Given the description of an element on the screen output the (x, y) to click on. 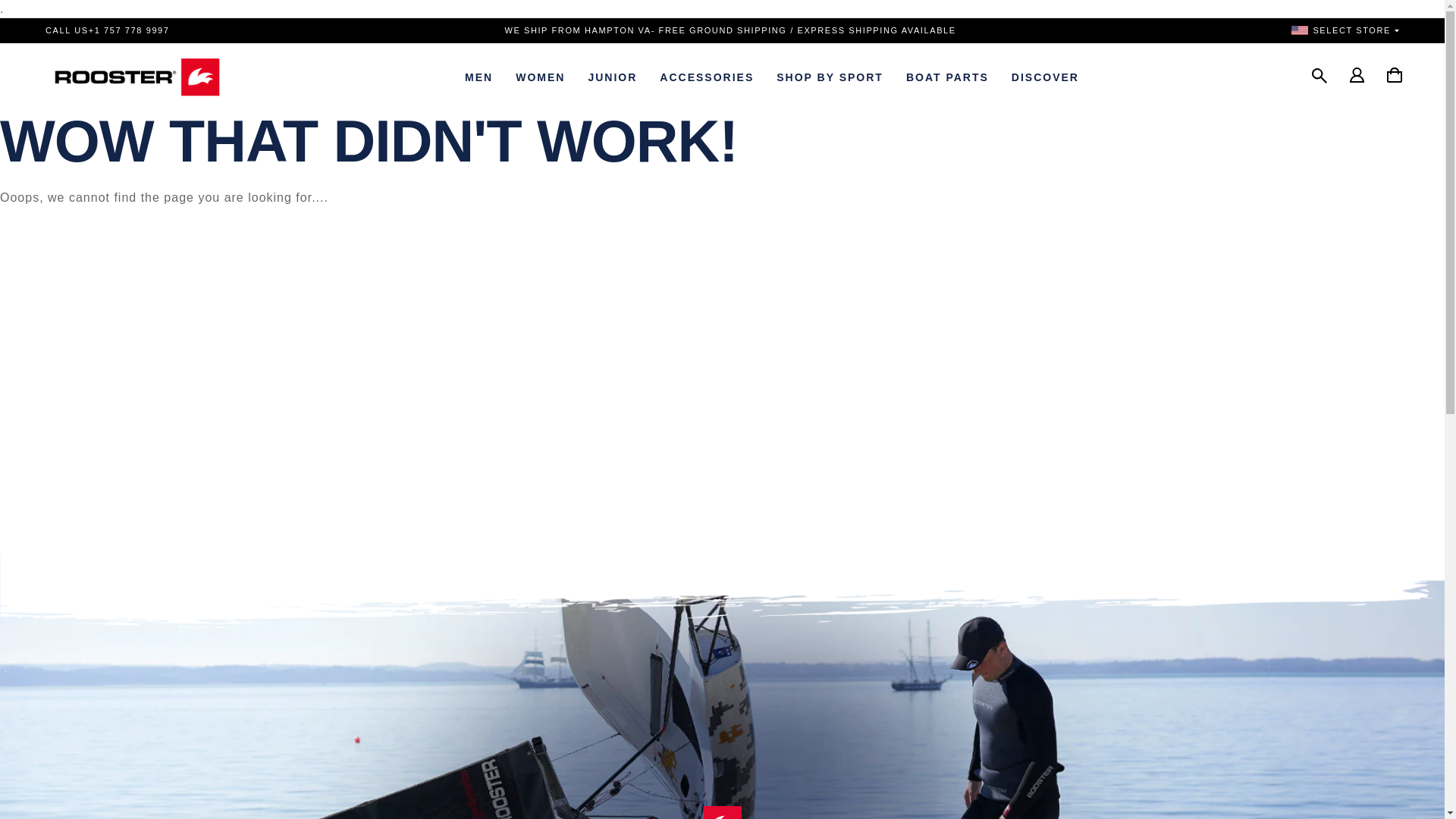
Women (539, 76)
Shop by sport (830, 76)
Accessories (706, 76)
Discover (1045, 76)
Boat parts (947, 76)
Junior (611, 76)
